Given the description of an element on the screen output the (x, y) to click on. 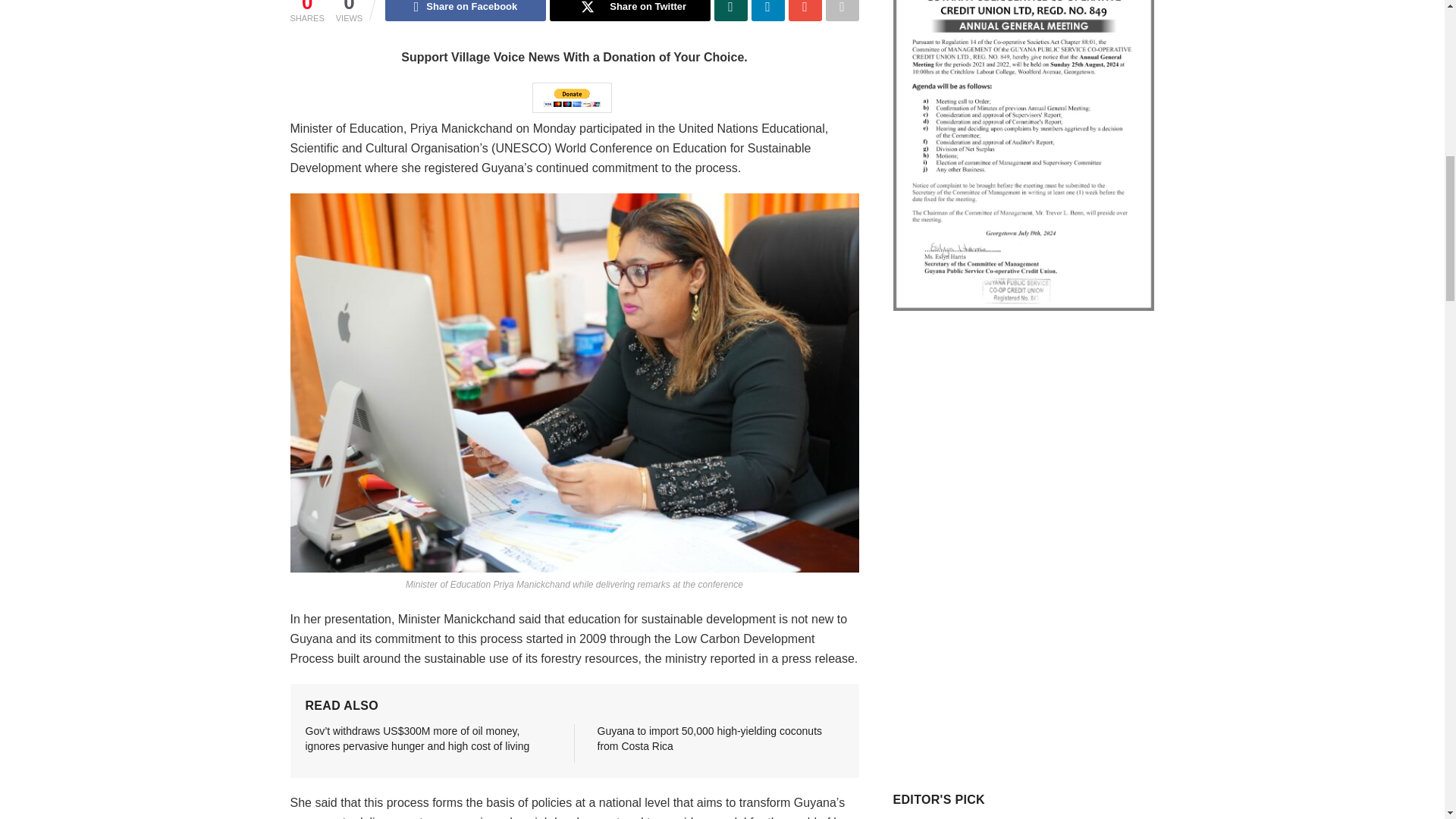
PayPal - The safer, easier way to pay online! (571, 97)
